Given the description of an element on the screen output the (x, y) to click on. 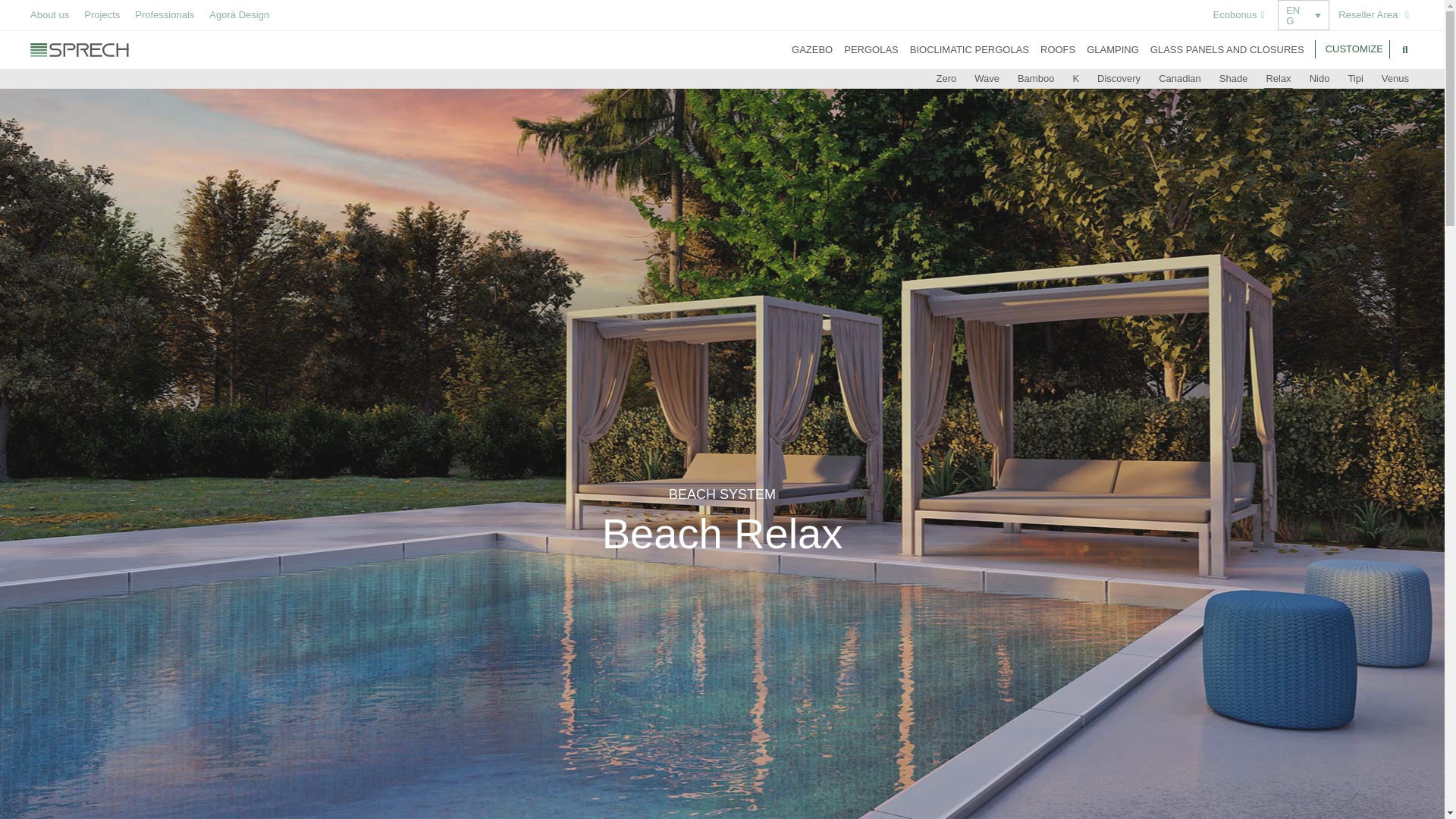
GAZEBO (812, 49)
PERGOLAS (871, 49)
Ecobonus (1238, 14)
Relax (1277, 78)
Bamboo (1035, 78)
Shade (1233, 78)
CUSTOMIZE (1352, 48)
About us (49, 14)
Discovery (1118, 78)
Professionals (164, 14)
ROOFS (1058, 49)
ENG (1303, 15)
Projects (101, 14)
Zero (946, 78)
Canadian (1179, 78)
